Given the description of an element on the screen output the (x, y) to click on. 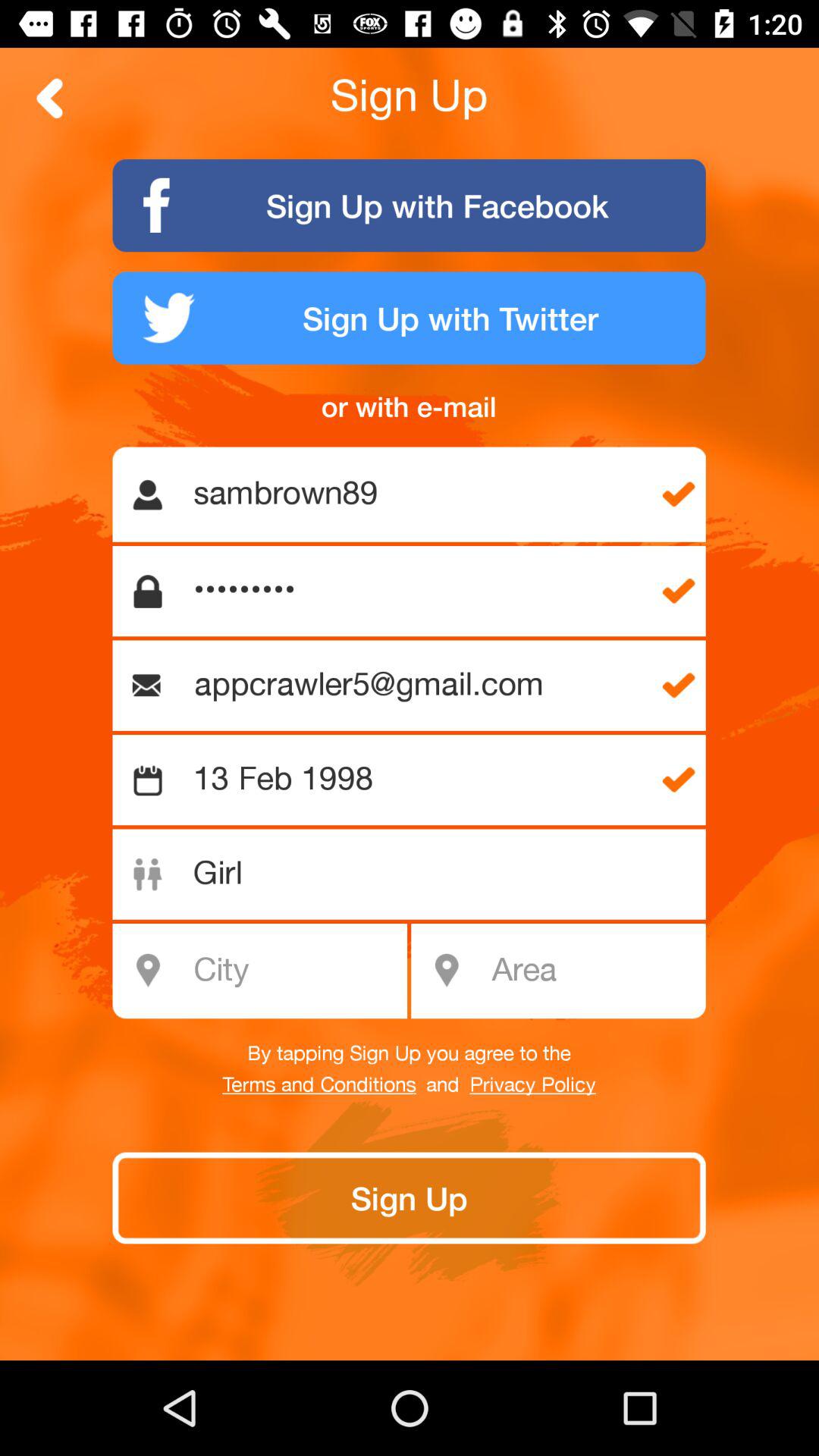
swipe until sambrown89 item (417, 494)
